Given the description of an element on the screen output the (x, y) to click on. 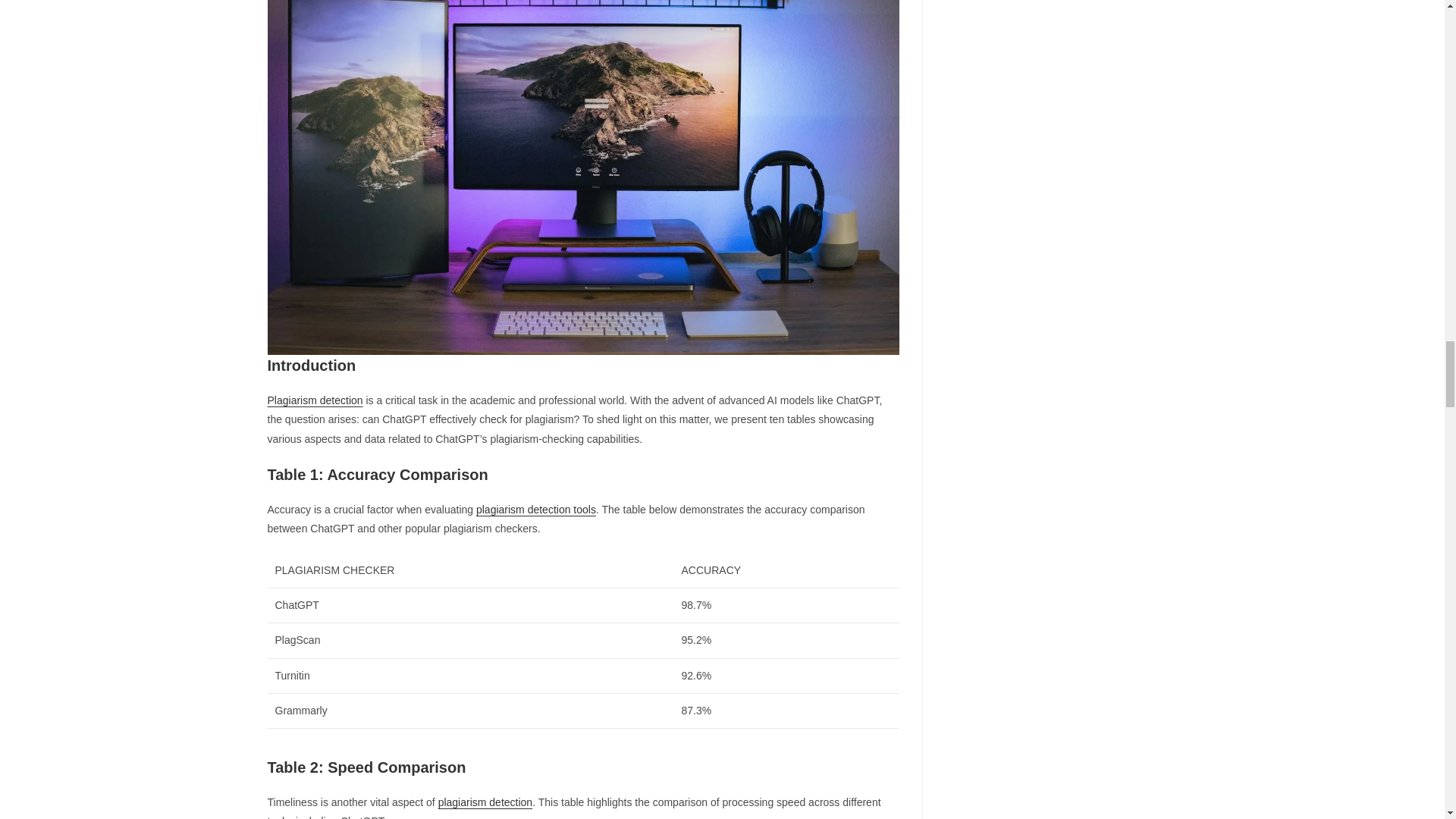
plagiarism detection tools (535, 509)
plagiarism detection (485, 802)
Plagiarism detection (314, 399)
